Given the description of an element on the screen output the (x, y) to click on. 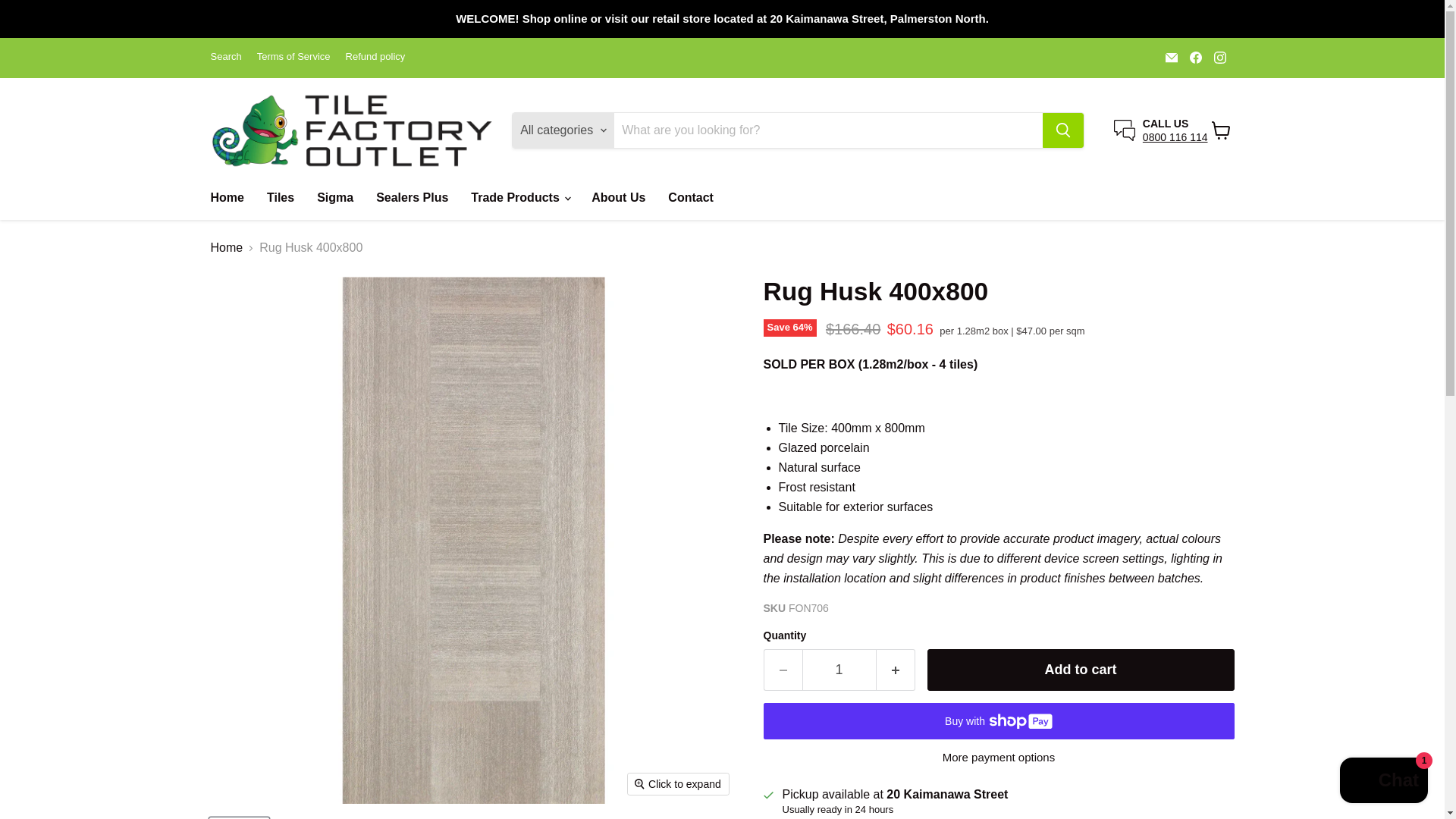
tel:0800116114 (1175, 137)
Sealers Plus (412, 197)
Sigma (335, 197)
Contact (690, 197)
Search (226, 57)
Home (226, 197)
About Us (617, 197)
Instagram (1219, 56)
View cart (1221, 130)
Tiles (280, 197)
Find us on Instagram (1219, 56)
Email Tile Factory Outlet (1171, 56)
Find us on Facebook (1196, 56)
Refund policy (376, 57)
Shopify online store chat (1383, 781)
